Given the description of an element on the screen output the (x, y) to click on. 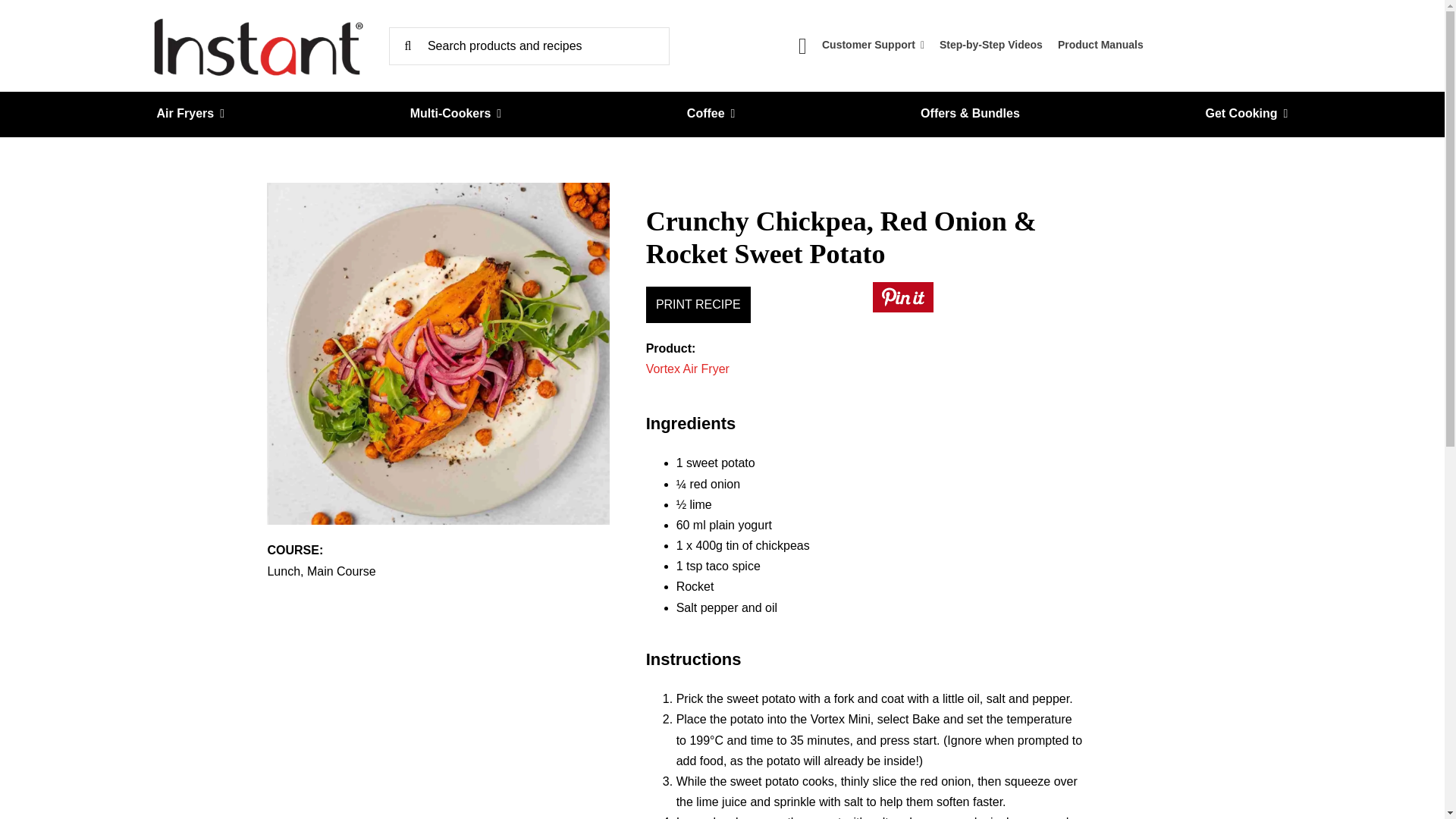
Multi-Cookers (456, 114)
crunchy-chickpea-red-onion-rocket-sweet-potato (437, 353)
Step-by-Step Videos (990, 46)
Air Fryers (190, 114)
Customer Support (873, 46)
Product Manuals (1100, 46)
